Given the description of an element on the screen output the (x, y) to click on. 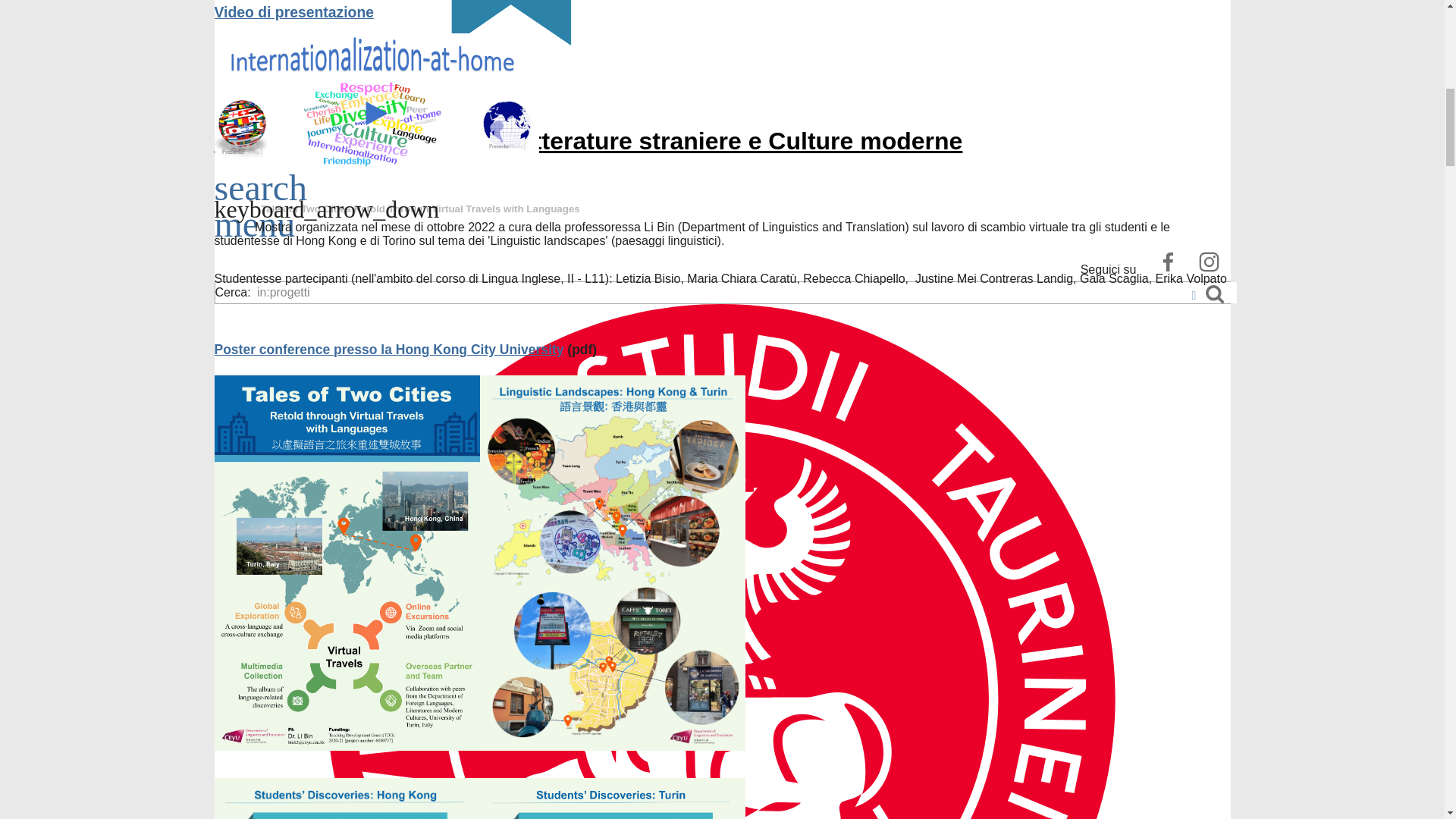
menu (254, 232)
HOME (722, 64)
Home page (588, 140)
search (260, 195)
Mostra il motore di ricerca del sito (260, 195)
Mostra il menu del sito (254, 232)
in:progetti  (744, 292)
